Given the description of an element on the screen output the (x, y) to click on. 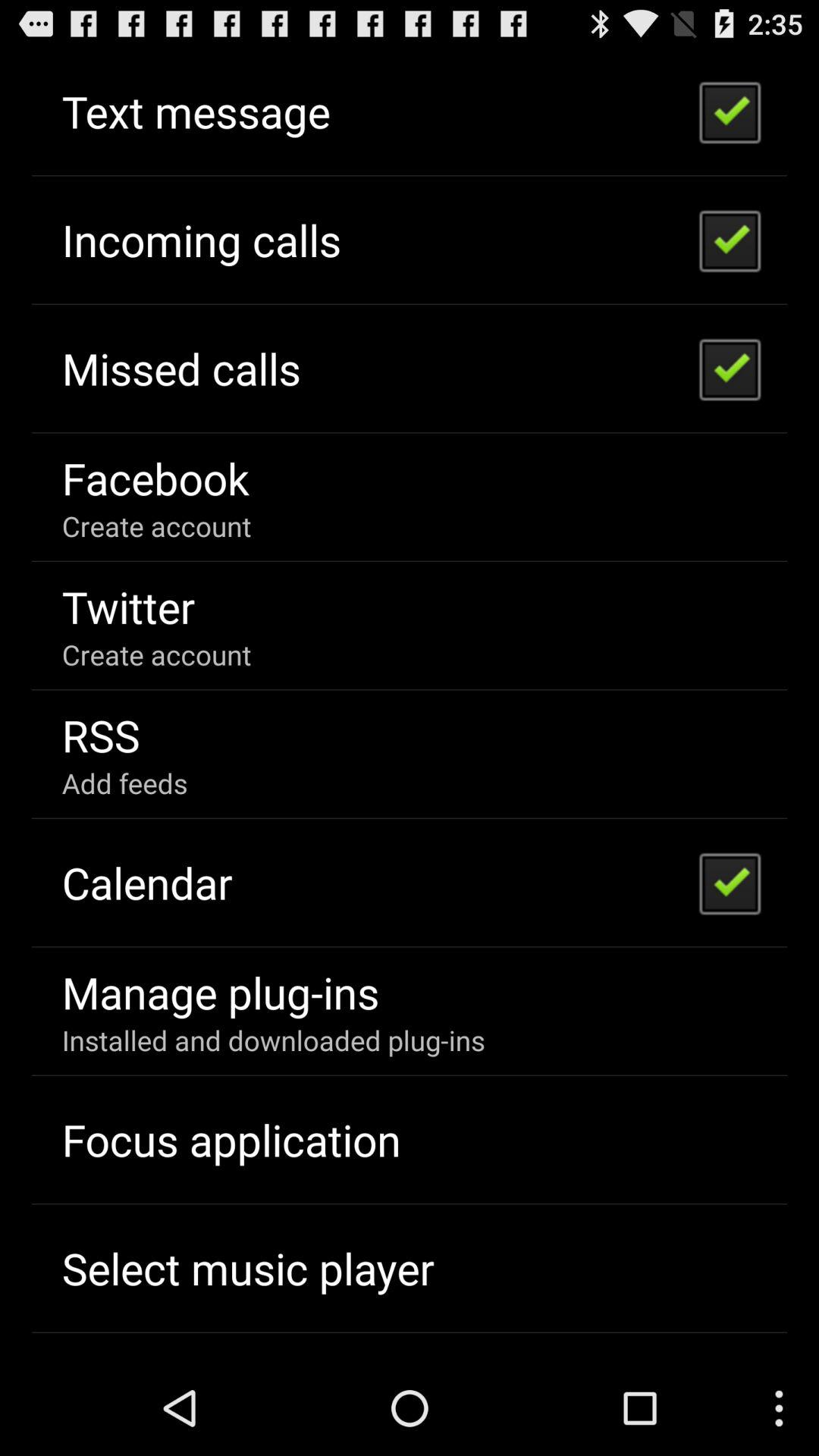
open the item below the installed and downloaded app (230, 1139)
